Given the description of an element on the screen output the (x, y) to click on. 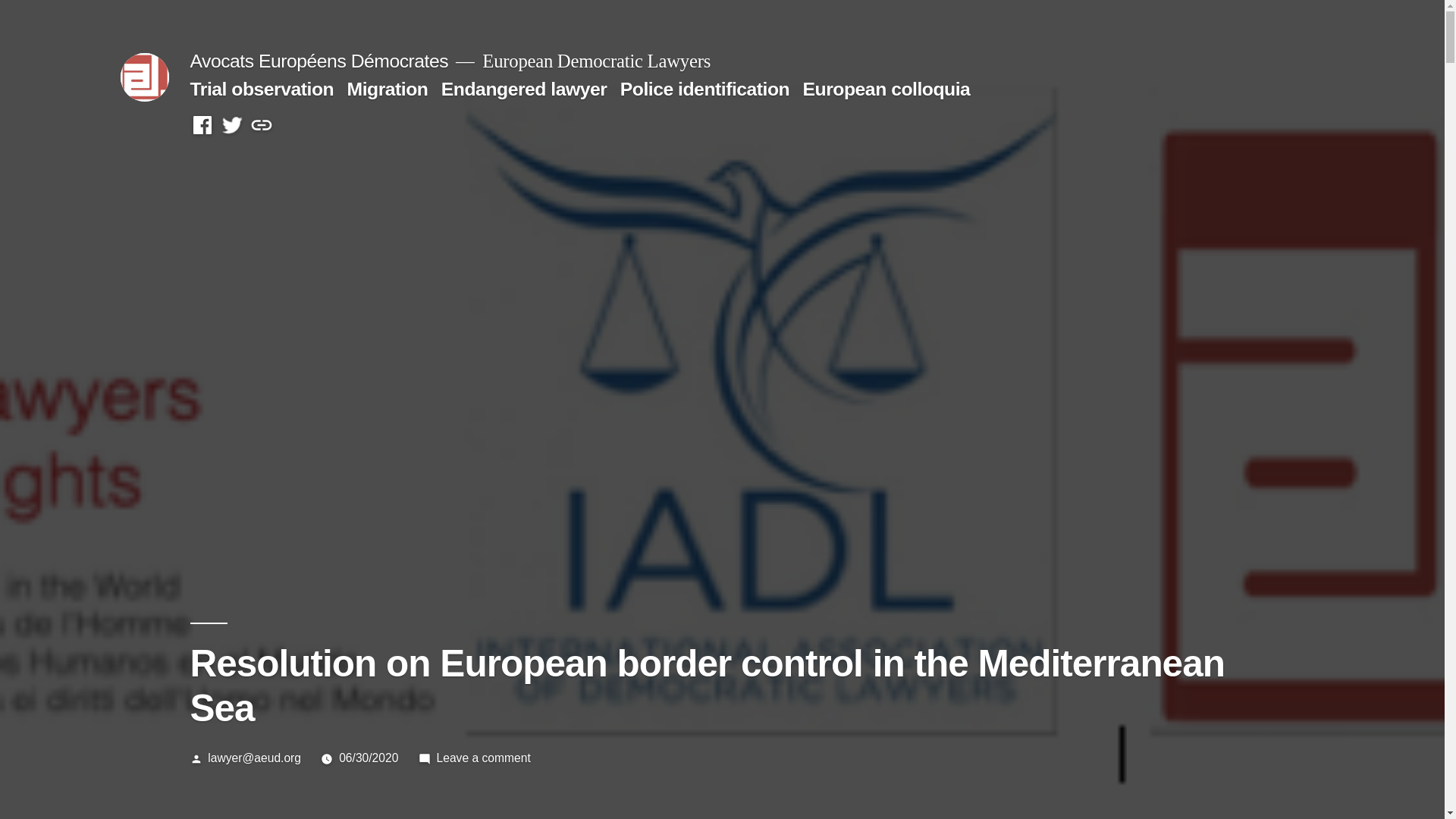
Telegram (260, 125)
Twitter (231, 125)
European colloquia (887, 88)
Trial observation (261, 88)
facebook (201, 125)
Police identification (704, 88)
Endangered lawyer (524, 88)
Migration (387, 88)
